Given the description of an element on the screen output the (x, y) to click on. 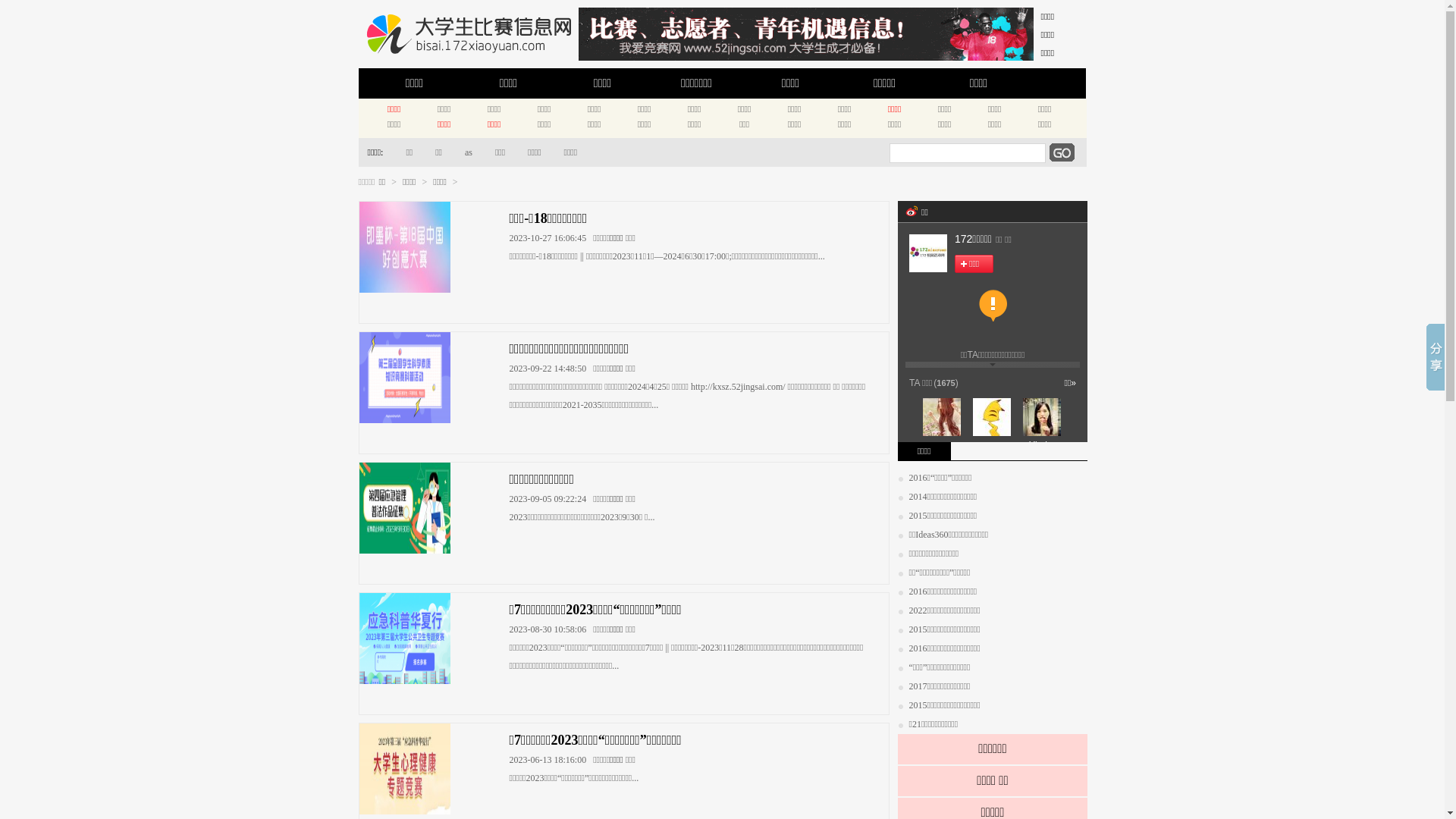
as Element type: text (462, 152)
